Given the description of an element on the screen output the (x, y) to click on. 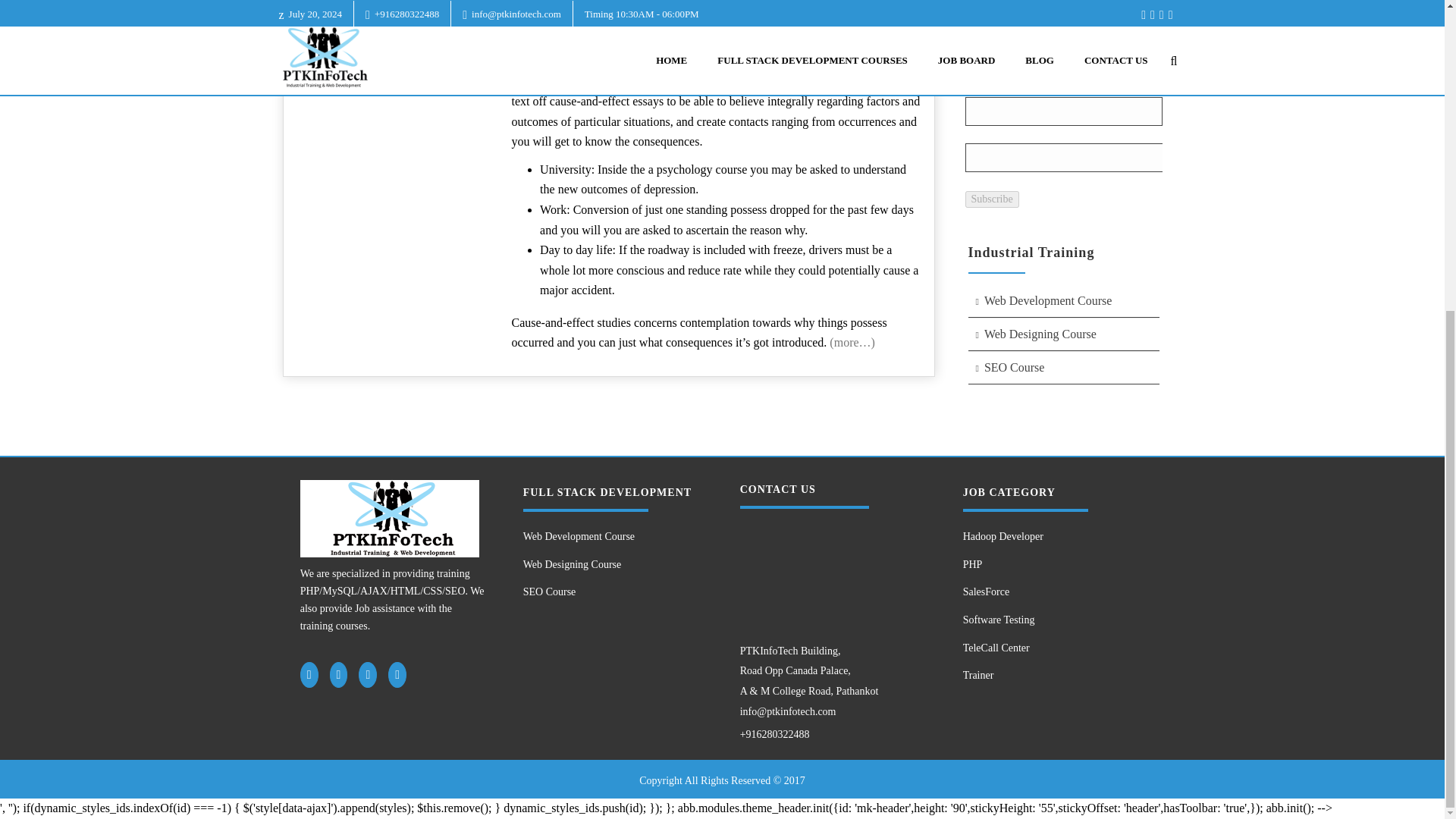
Web Development Course (611, 537)
Web Designing Course (1063, 334)
Web Designing Course (611, 565)
SEO Course (1063, 368)
PHP (1051, 565)
SEO Course (611, 592)
Hadoop Developer (1051, 537)
Subscribe (990, 199)
Web Development Course (1063, 301)
Subscribe (990, 199)
